Given the description of an element on the screen output the (x, y) to click on. 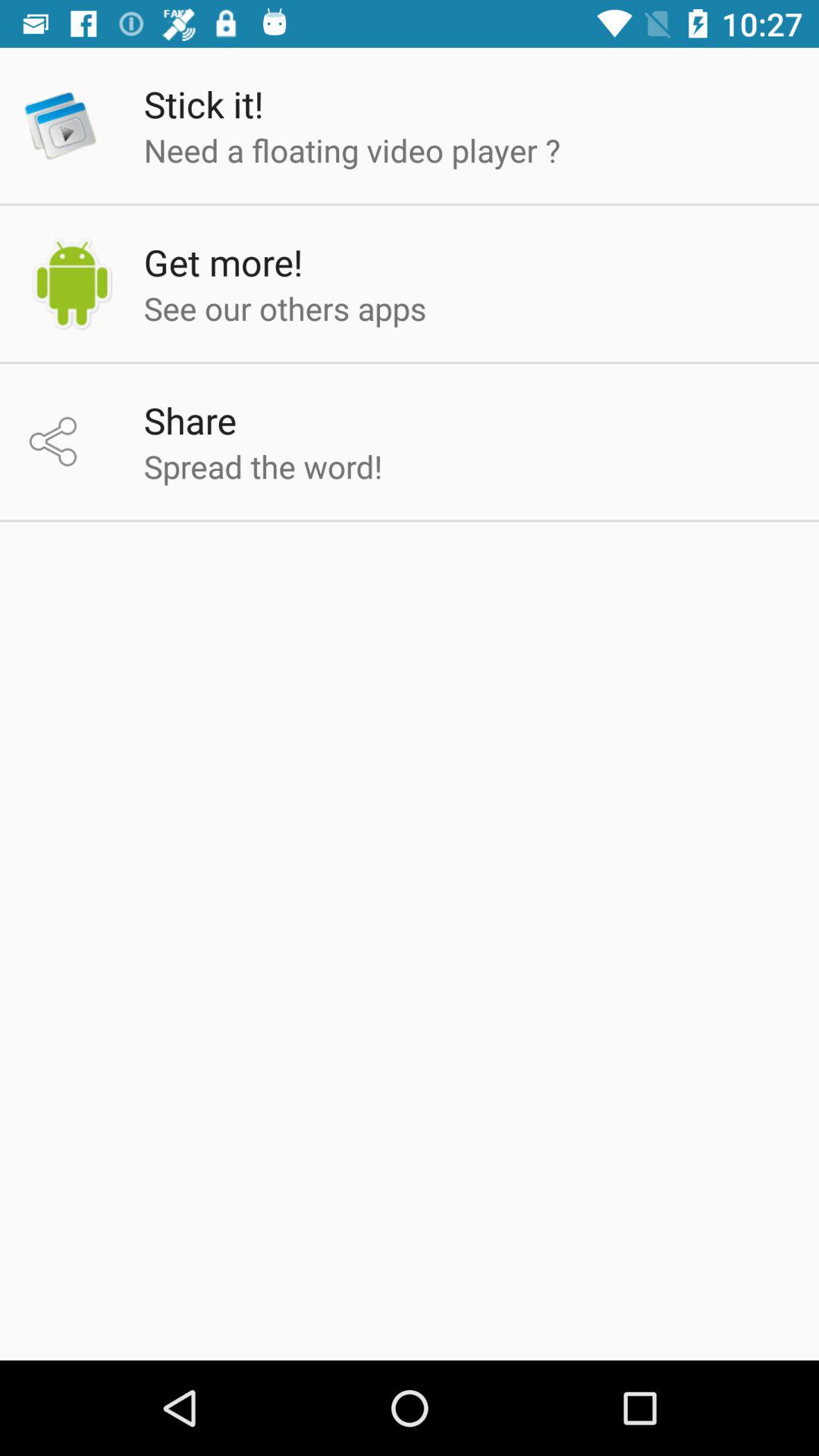
select get more! app (222, 261)
